Given the description of an element on the screen output the (x, y) to click on. 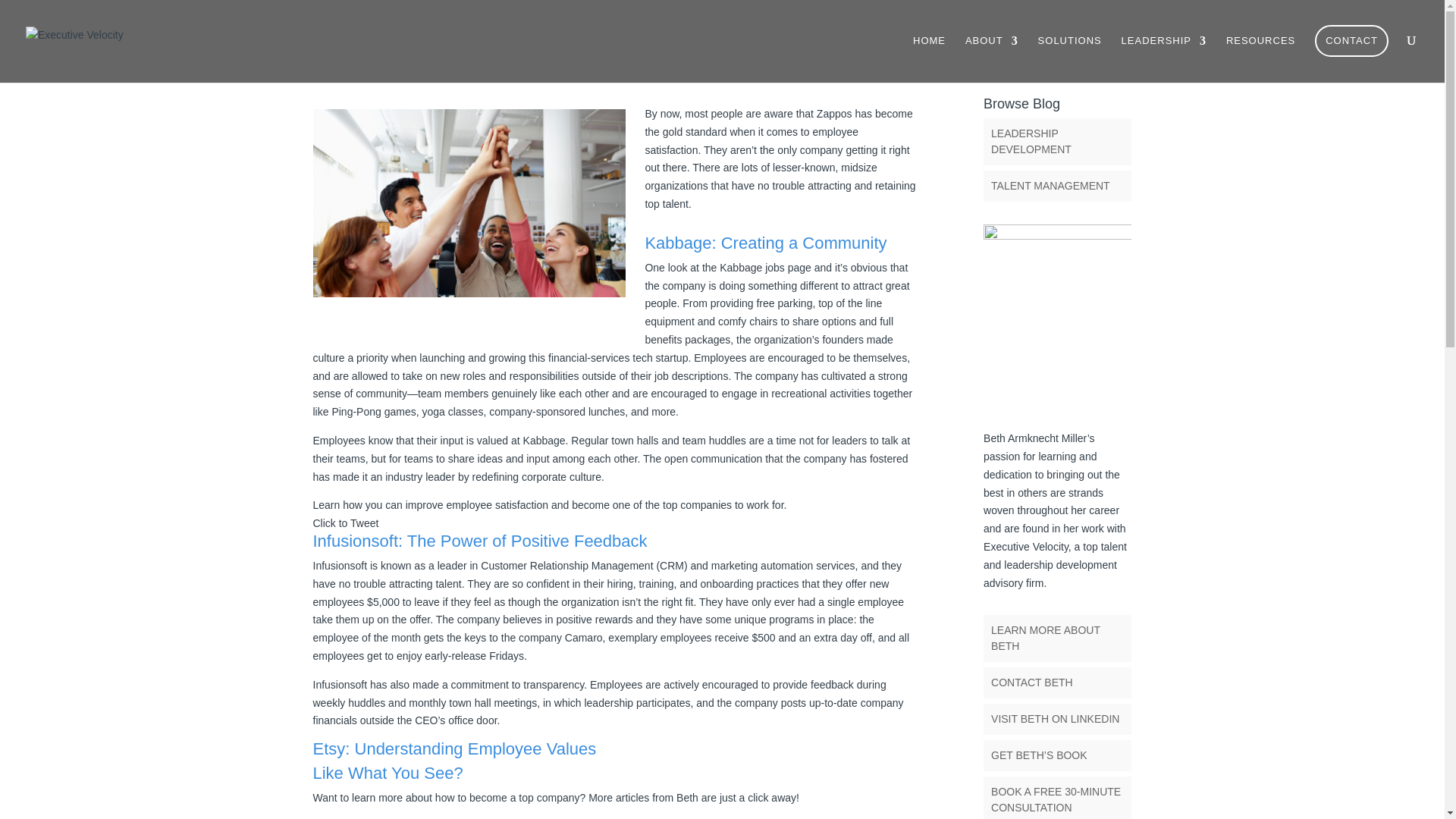
Search (1106, 59)
ABOUT (991, 53)
BOOK A FREE 30-MINUTE CONSULTATION (1056, 799)
TALENT MANAGEMENT (1050, 185)
Search (1106, 59)
SOLUTIONS (1070, 53)
VISIT BETH ON LINKEDIN (1055, 718)
transparency (551, 684)
Click to Tweet (345, 522)
LEADERSHIP DEVELOPMENT (1031, 141)
